Given the description of an element on the screen output the (x, y) to click on. 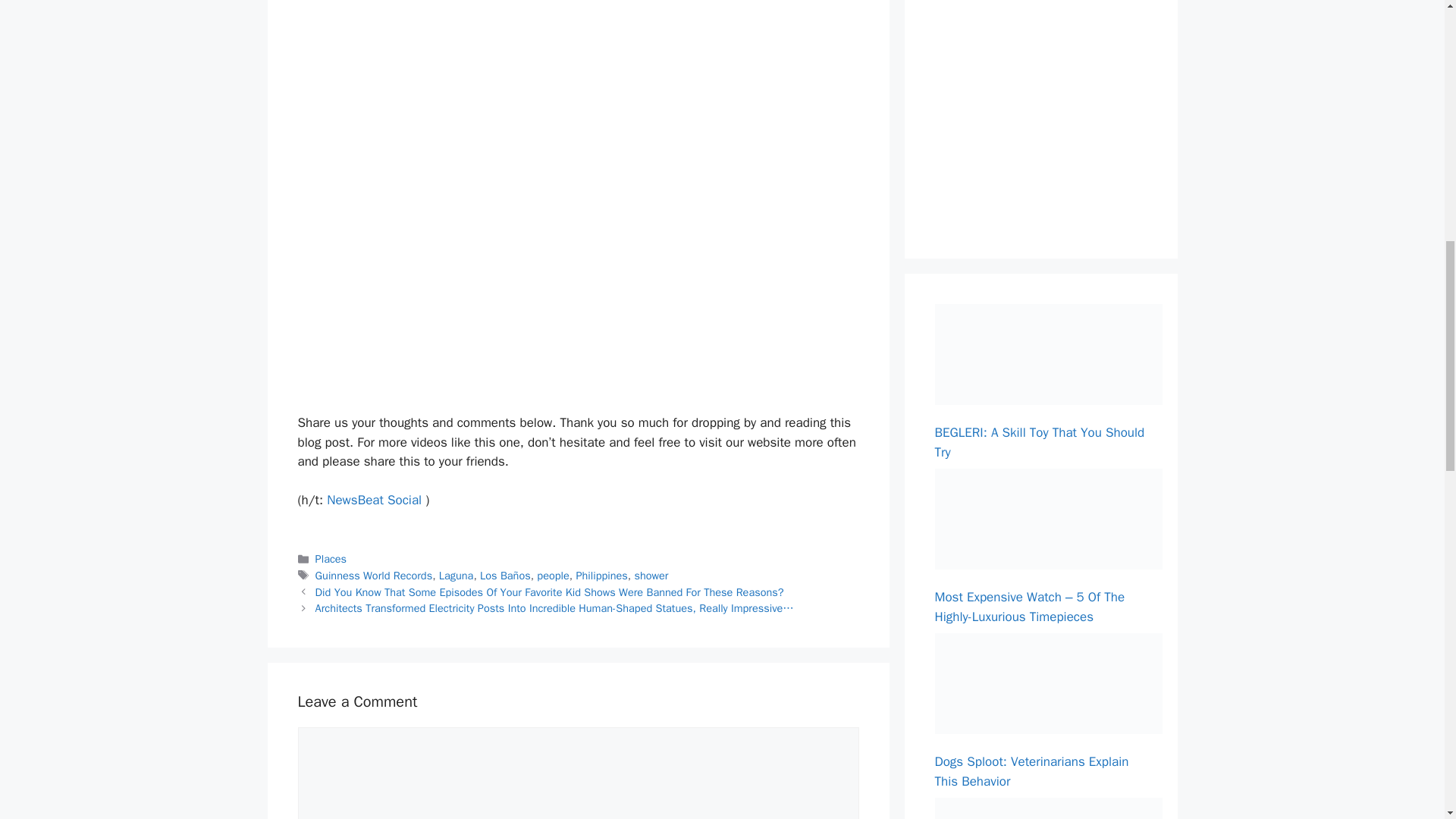
Guinness World Records (373, 575)
Philippines (601, 575)
people (553, 575)
Advertisement (578, 53)
NewsBeat Social (374, 499)
YouTube video player (511, 259)
shower (650, 575)
Laguna (456, 575)
Advertisement (1047, 108)
Places (331, 558)
